Given the description of an element on the screen output the (x, y) to click on. 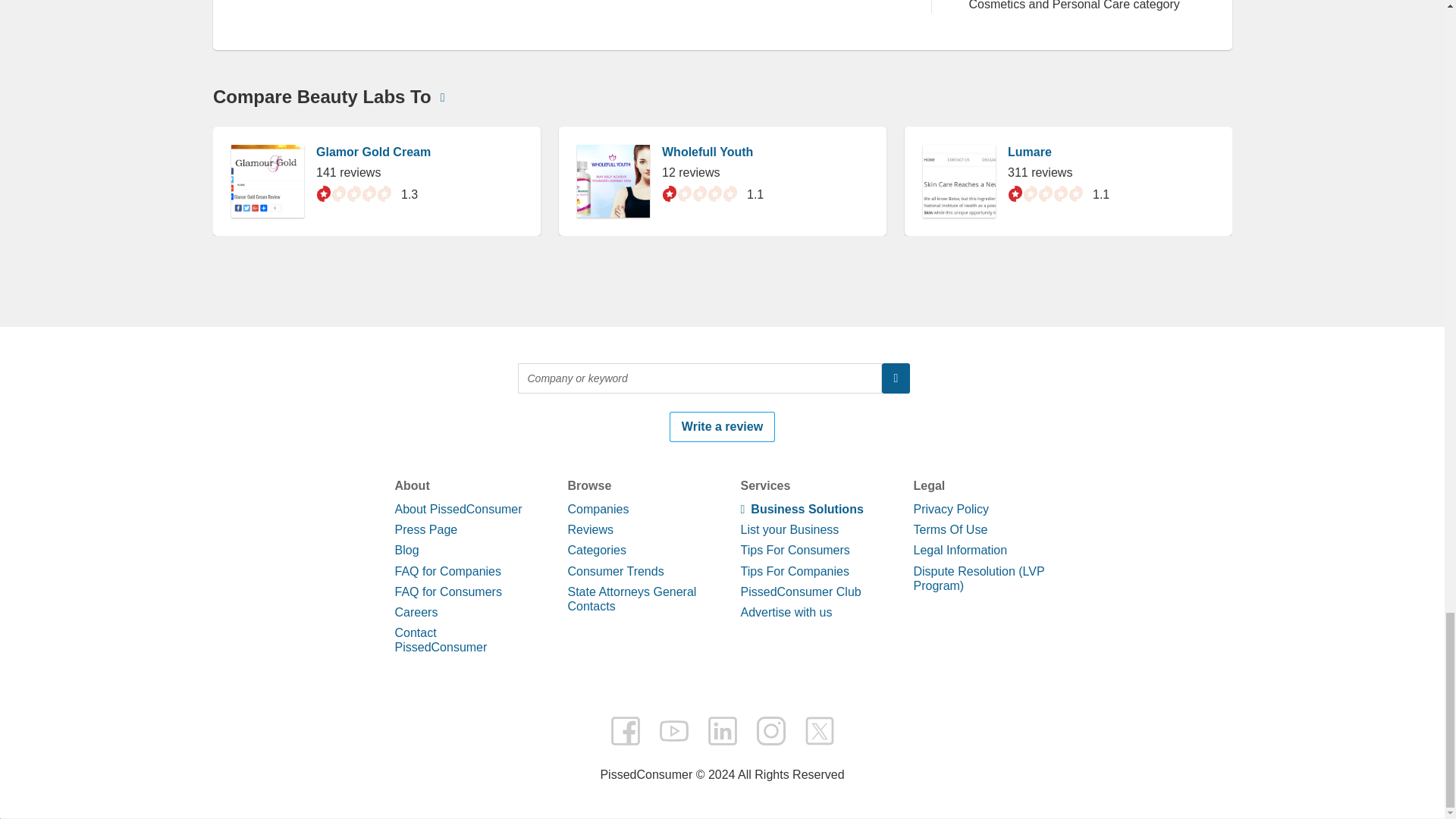
Wholefull Youth (706, 748)
Glamor Gold Cream (372, 748)
Lumare (1029, 748)
